Given the description of an element on the screen output the (x, y) to click on. 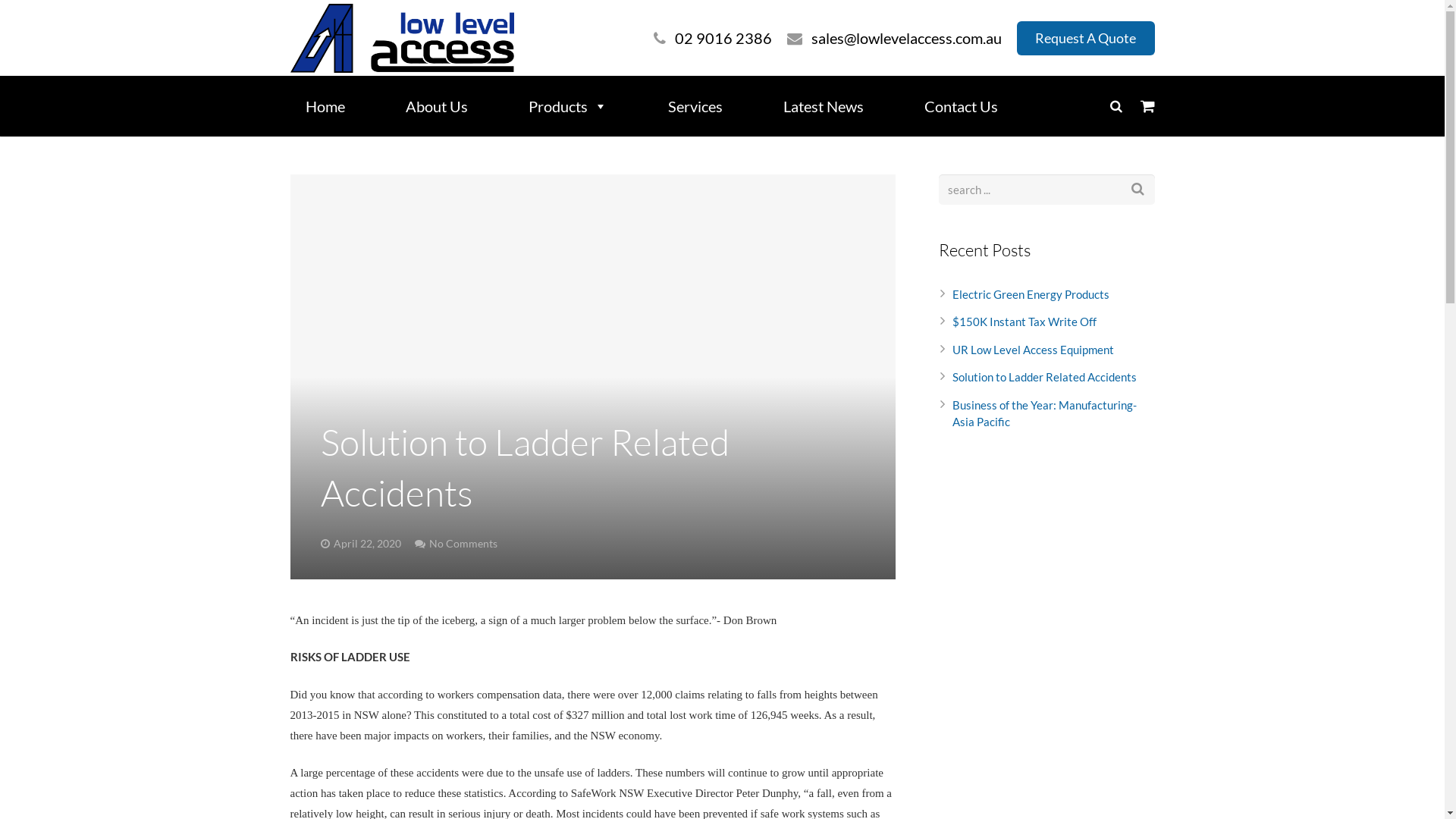
02 9016 2386 Element type: text (722, 37)
No Comments Element type: text (463, 543)
Home Element type: text (339, 106)
Electric Green Energy Products Element type: text (1030, 294)
About Us Element type: text (450, 106)
Products Element type: text (582, 106)
Solution to Ladder Related Accidents Element type: text (1044, 376)
sales@lowlevelaccess.com.au Element type: text (906, 37)
Request A Quote Element type: text (1085, 38)
Contact Us Element type: text (975, 106)
Services Element type: text (709, 106)
UR Low Level Access Equipment Element type: text (1032, 349)
Latest News Element type: text (837, 106)
Business of the Year: Manufacturing- Asia Pacific Element type: text (1044, 413)
$150K Instant Tax Write Off Element type: text (1024, 321)
